Given the description of an element on the screen output the (x, y) to click on. 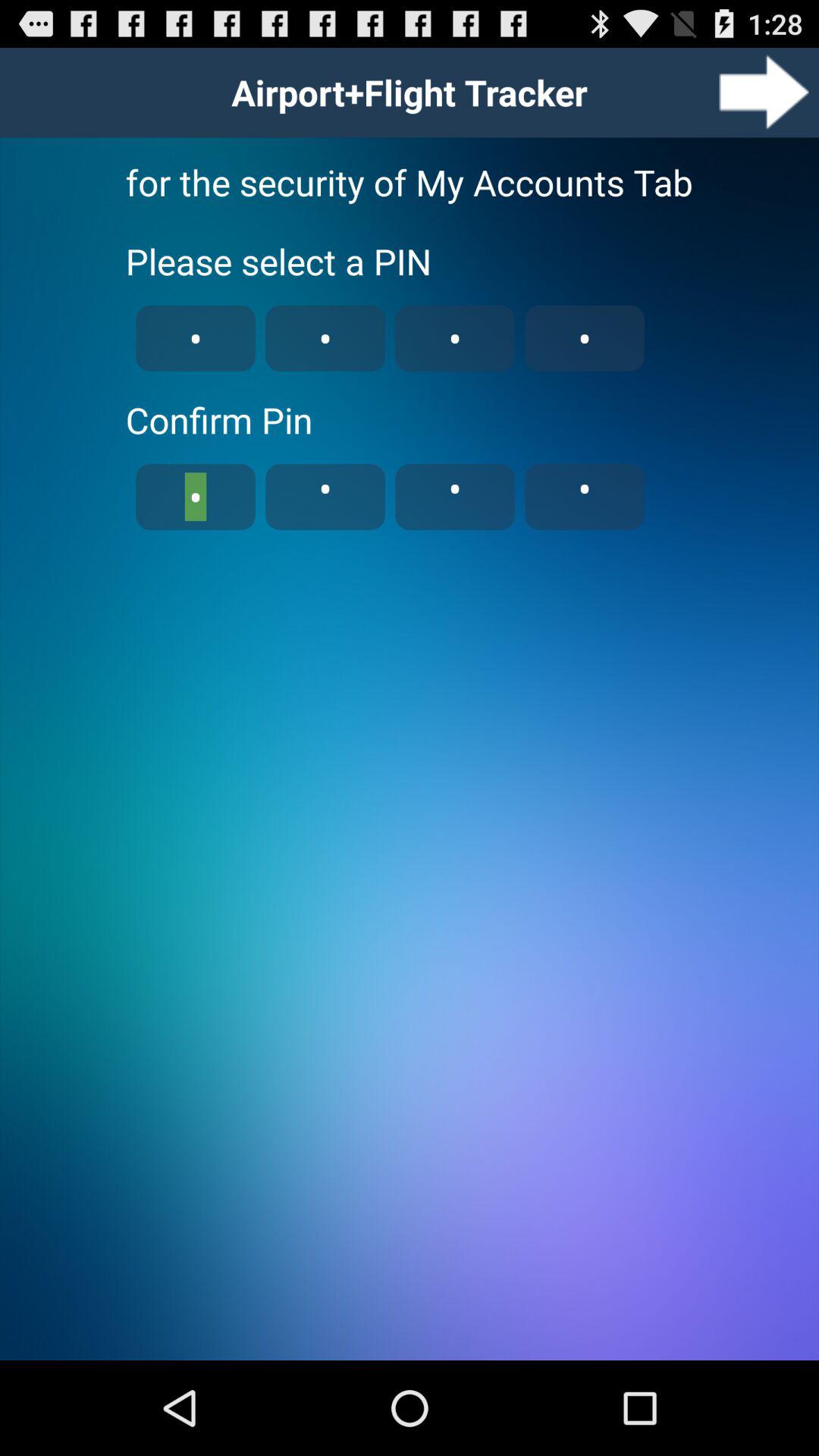
next (763, 92)
